Given the description of an element on the screen output the (x, y) to click on. 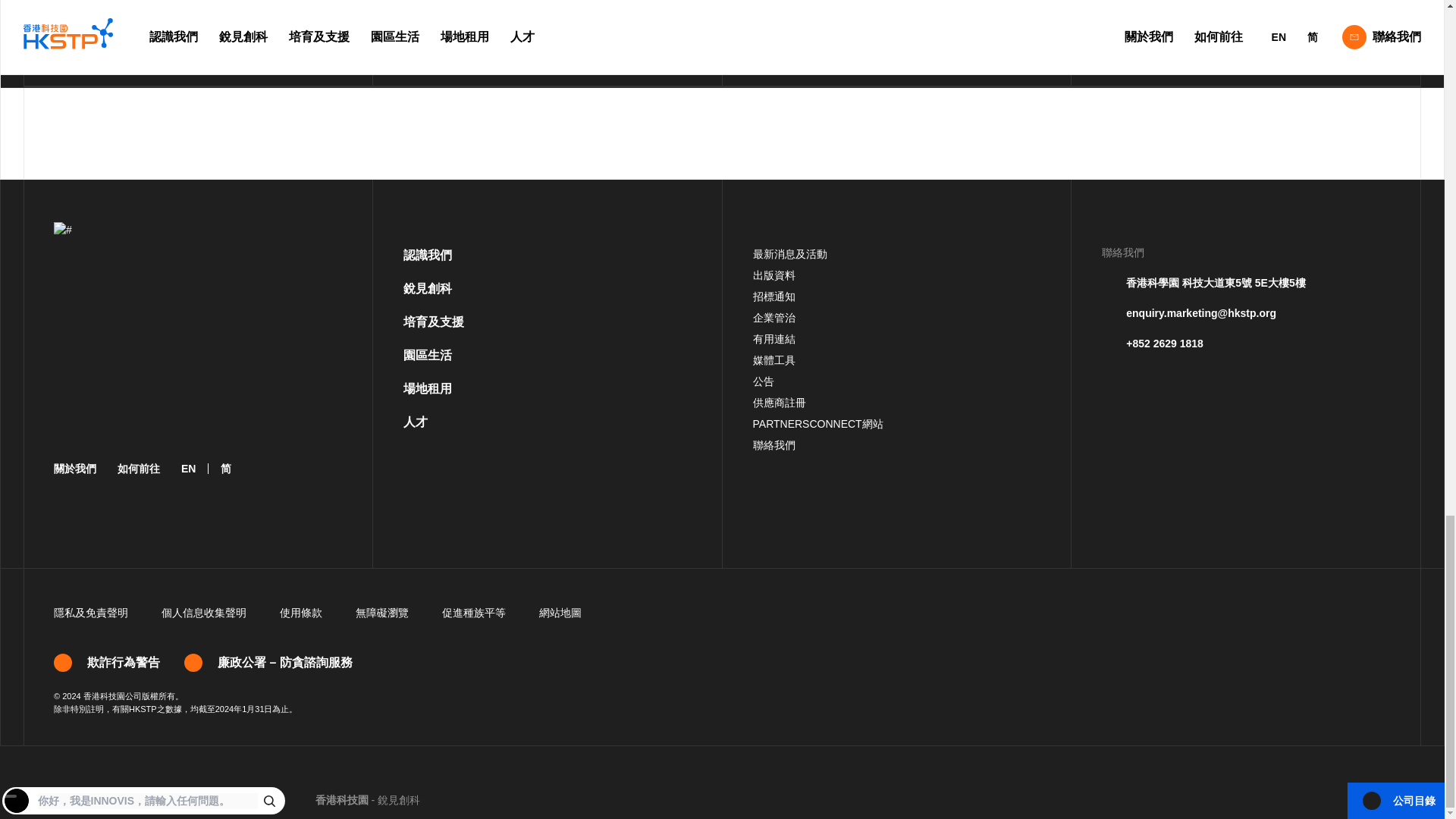
EN (187, 468)
